Given the description of an element on the screen output the (x, y) to click on. 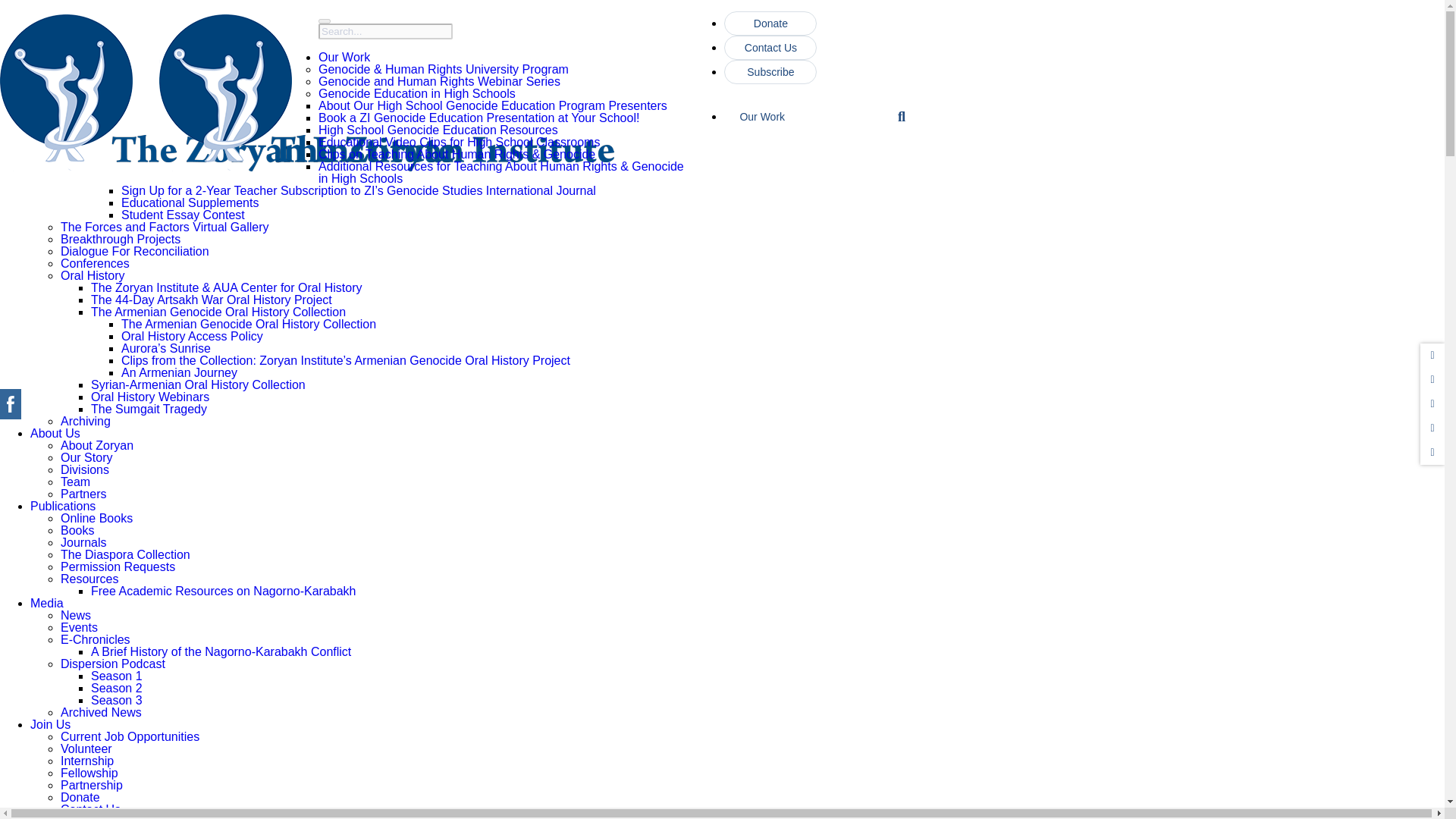
Contact Us (769, 47)
Our Work (808, 122)
Subscribe (769, 71)
Donate (769, 23)
